Given the description of an element on the screen output the (x, y) to click on. 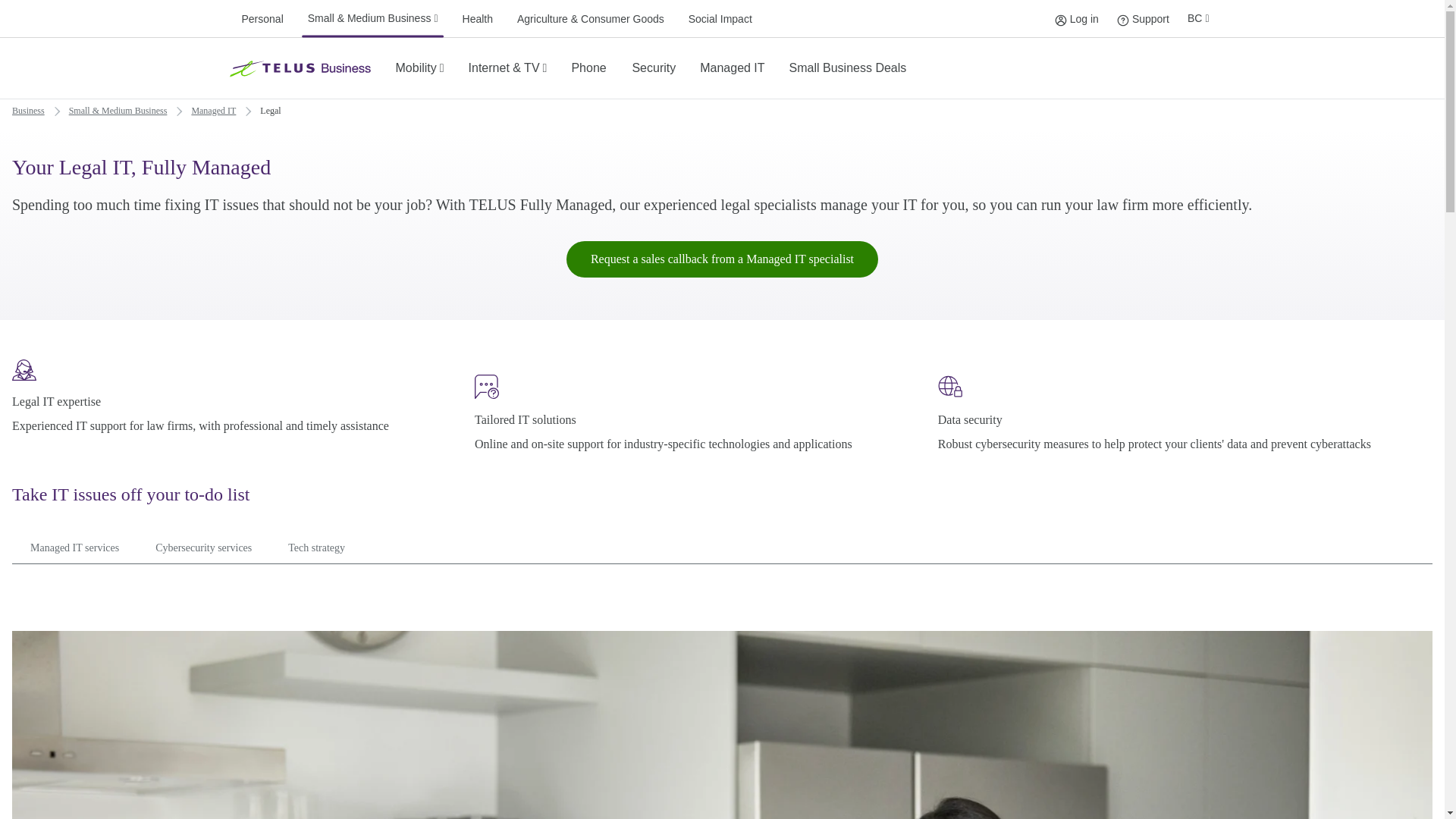
Security (653, 67)
Cybersecurity services (202, 549)
Log in (1060, 20)
Business (28, 109)
Support (1122, 20)
Personal (1142, 18)
Managed IT services (261, 18)
Managed IT (73, 549)
Managed IT (212, 109)
Phone (732, 67)
Small Business Deals (587, 67)
Tech strategy (848, 67)
Health (315, 549)
